Given the description of an element on the screen output the (x, y) to click on. 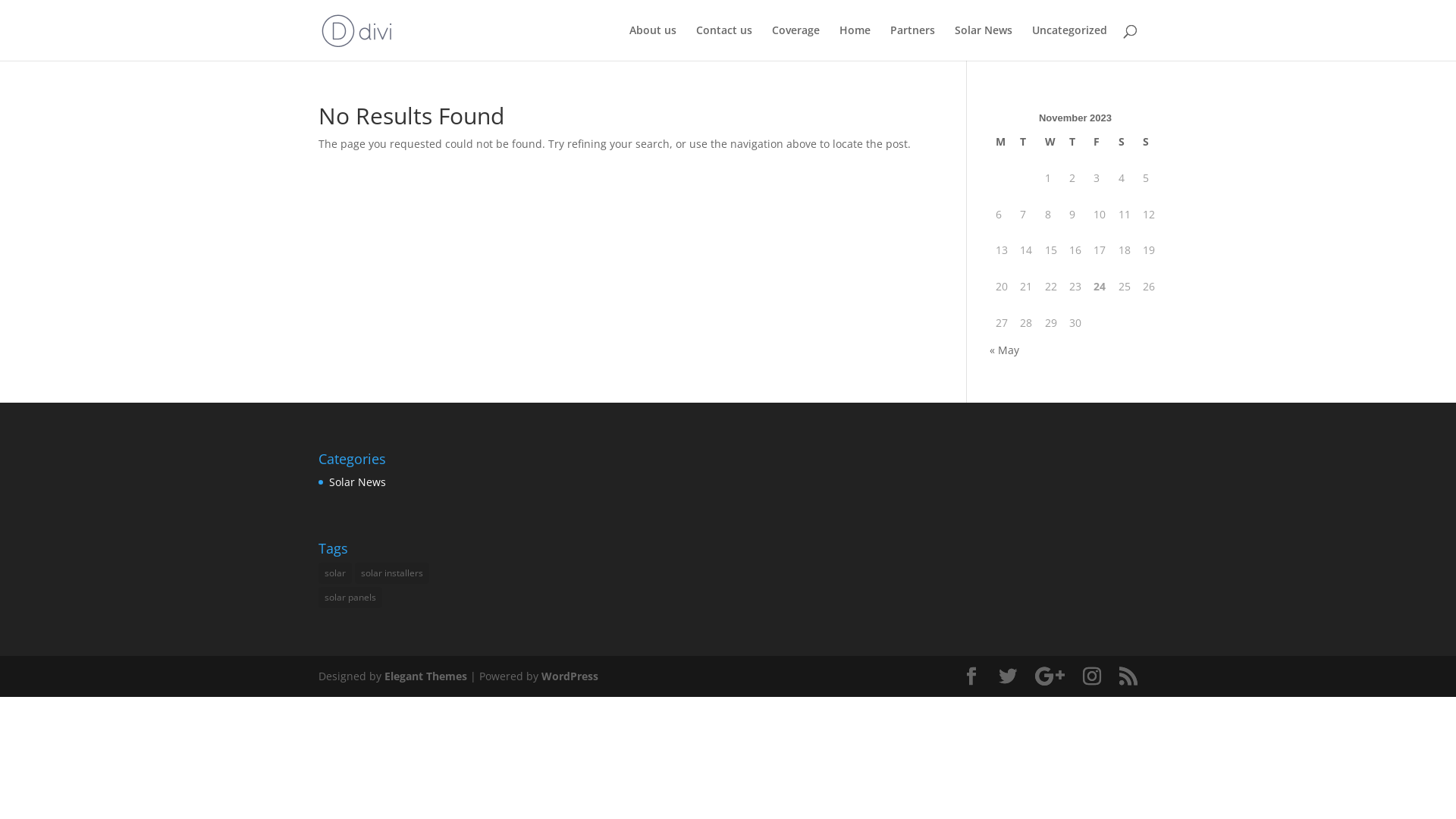
About us Element type: text (652, 42)
WordPress Element type: text (569, 675)
Partners Element type: text (912, 42)
Coverage Element type: text (795, 42)
Contact us Element type: text (724, 42)
Solar News Element type: text (357, 481)
Elegant Themes Element type: text (425, 675)
Solar News Element type: text (983, 42)
solar installers Element type: text (391, 572)
solar panels Element type: text (350, 597)
solar Element type: text (334, 572)
Uncategorized Element type: text (1069, 42)
Home Element type: text (854, 42)
